Given the description of an element on the screen output the (x, y) to click on. 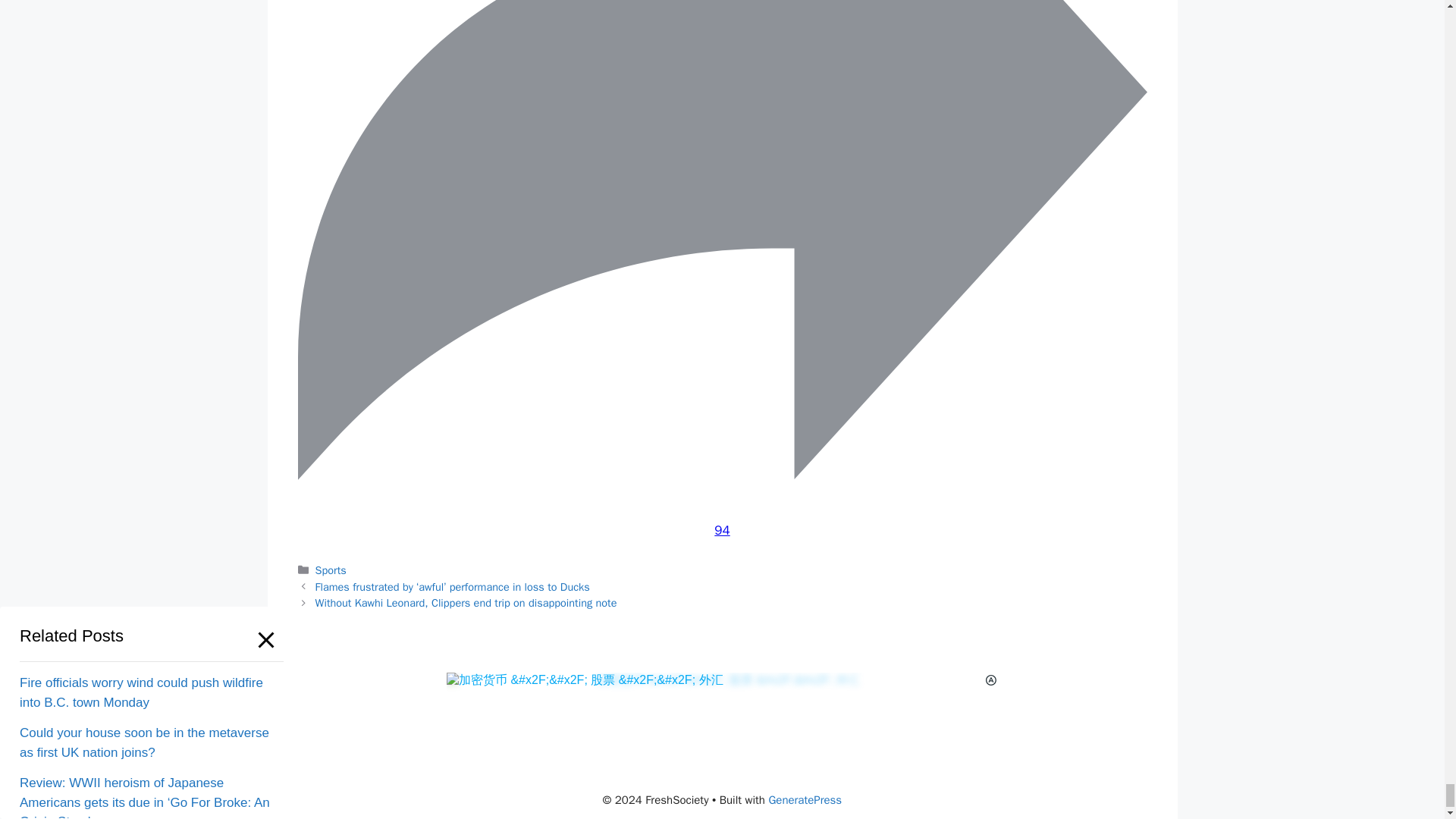
GeneratePress (804, 799)
Sports (330, 570)
